Given the description of an element on the screen output the (x, y) to click on. 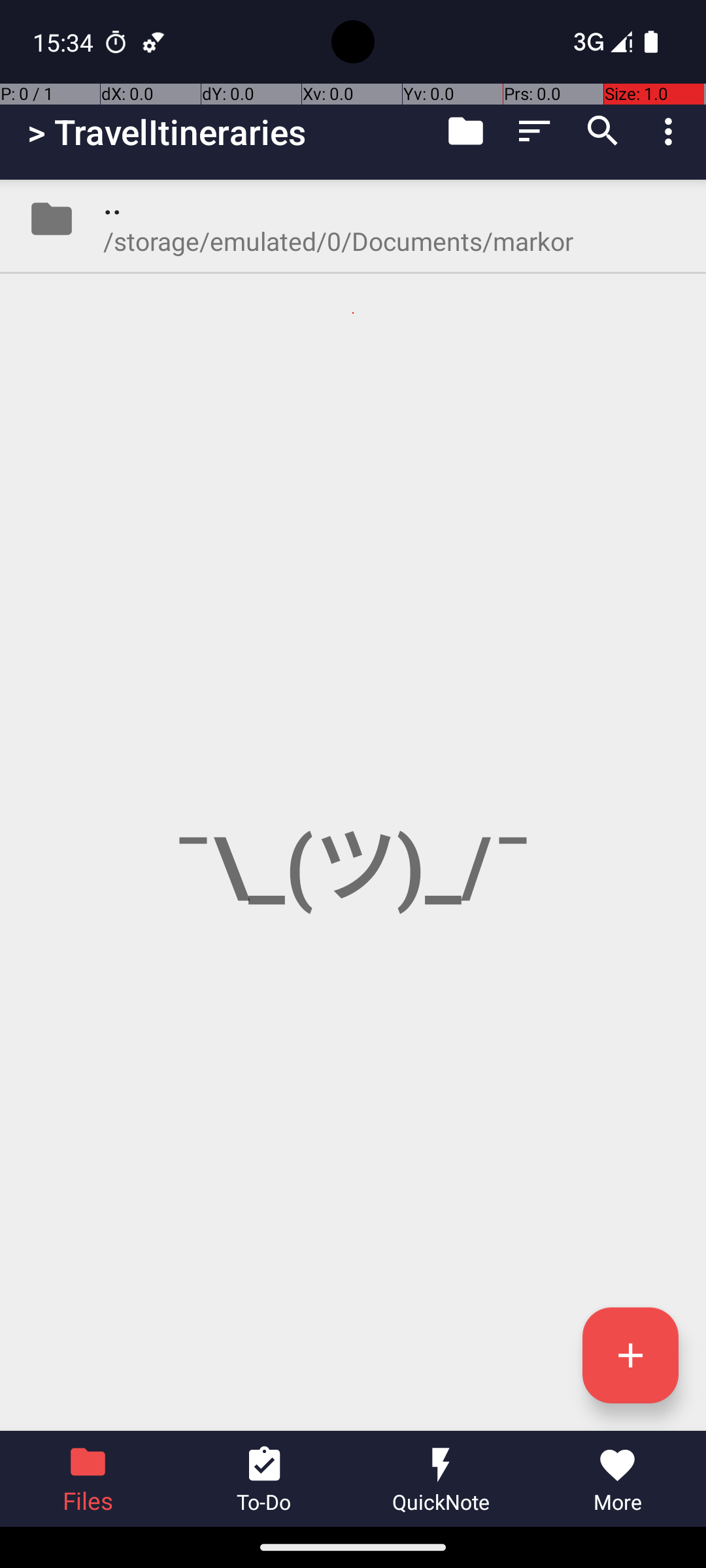
> TravelItineraries Element type: android.widget.TextView (166, 131)
